Given the description of an element on the screen output the (x, y) to click on. 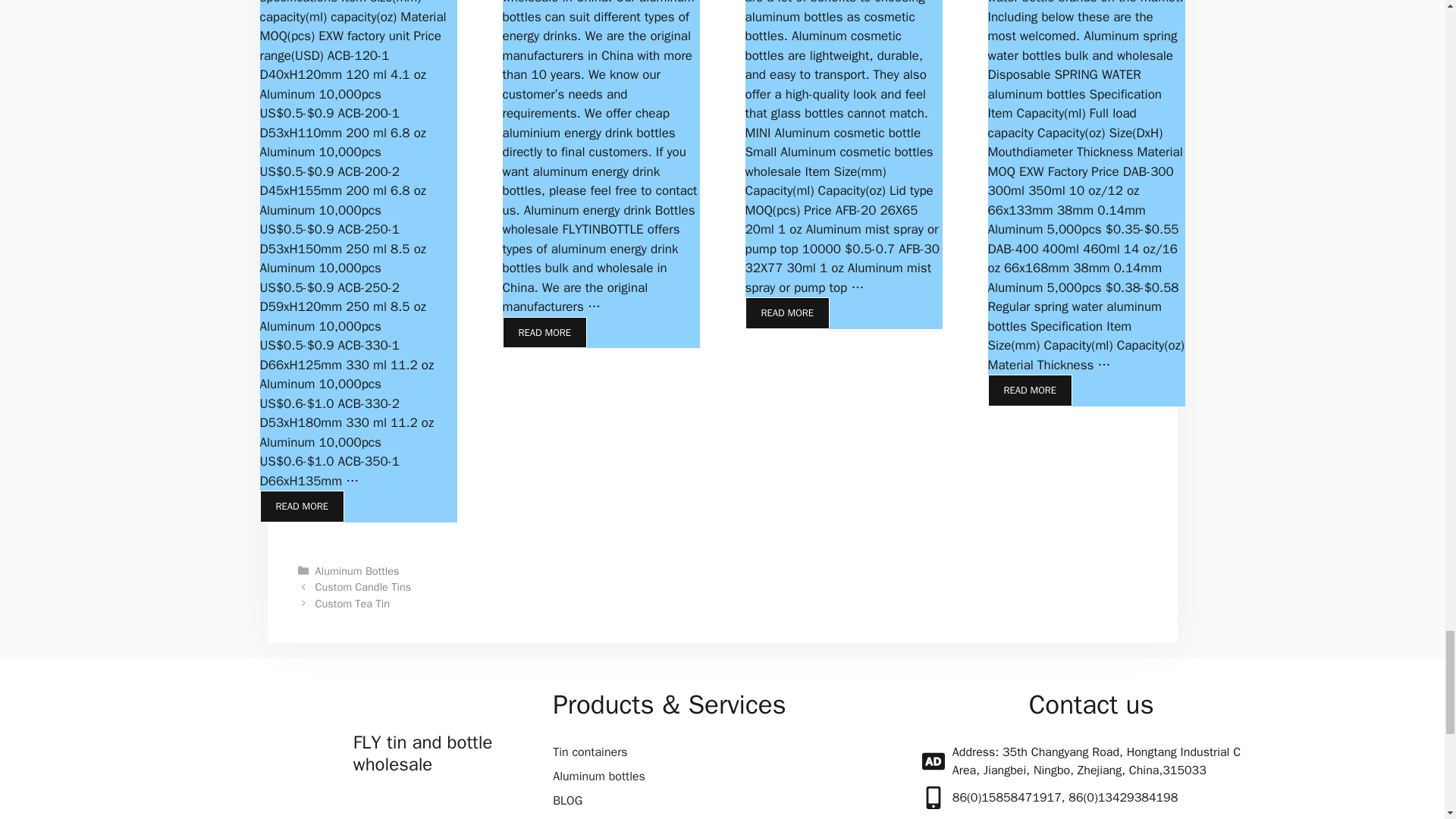
Aluminum Capsule Bottle (301, 506)
Spring Water in Aluminum Bottles (1029, 390)
Energy Drink Aluminum Bottle (544, 332)
Aluminum Cosmetic Bottles (786, 313)
